Given the description of an element on the screen output the (x, y) to click on. 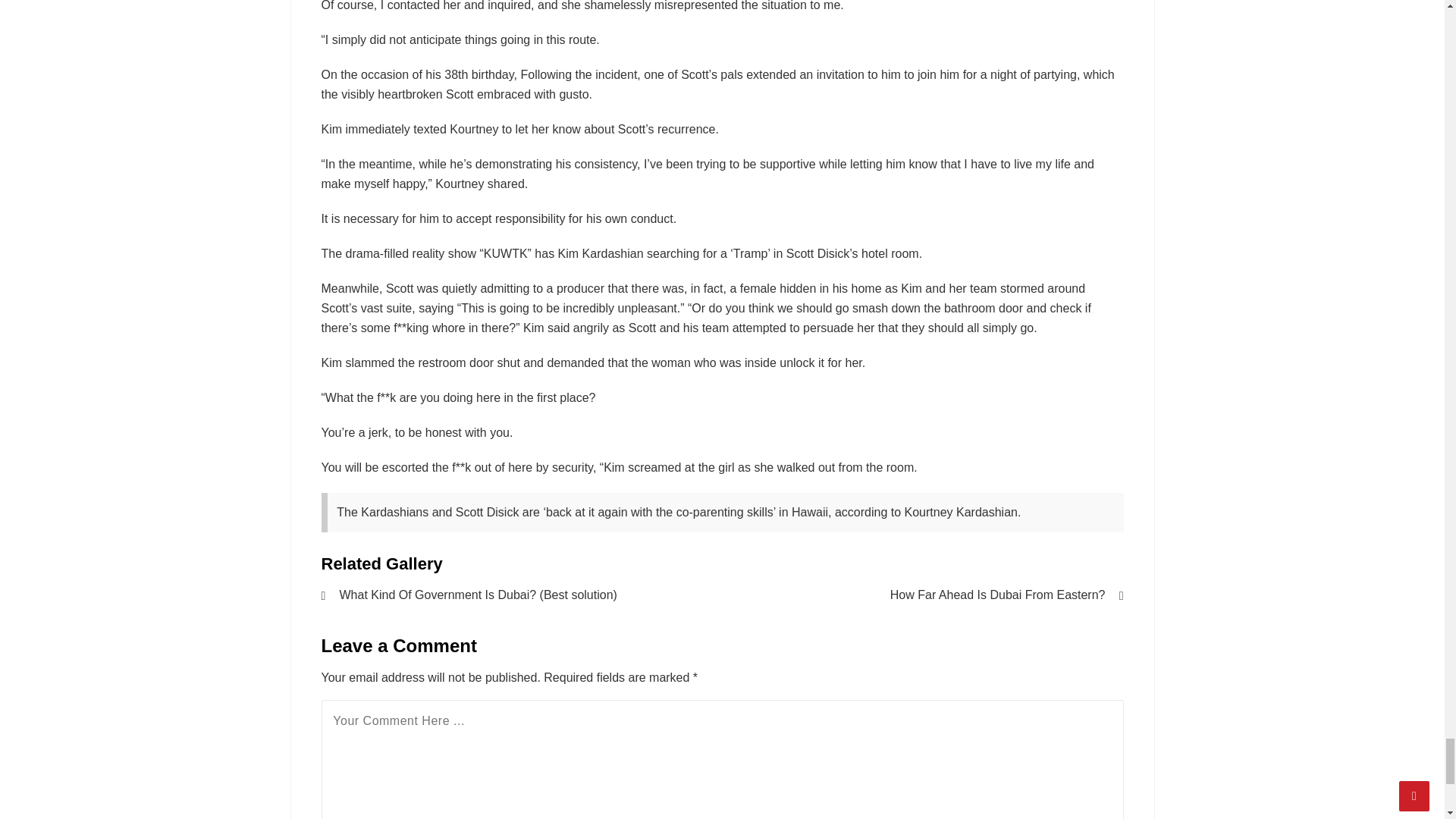
How Far Ahead Is Dubai From Eastern? (939, 594)
